Given the description of an element on the screen output the (x, y) to click on. 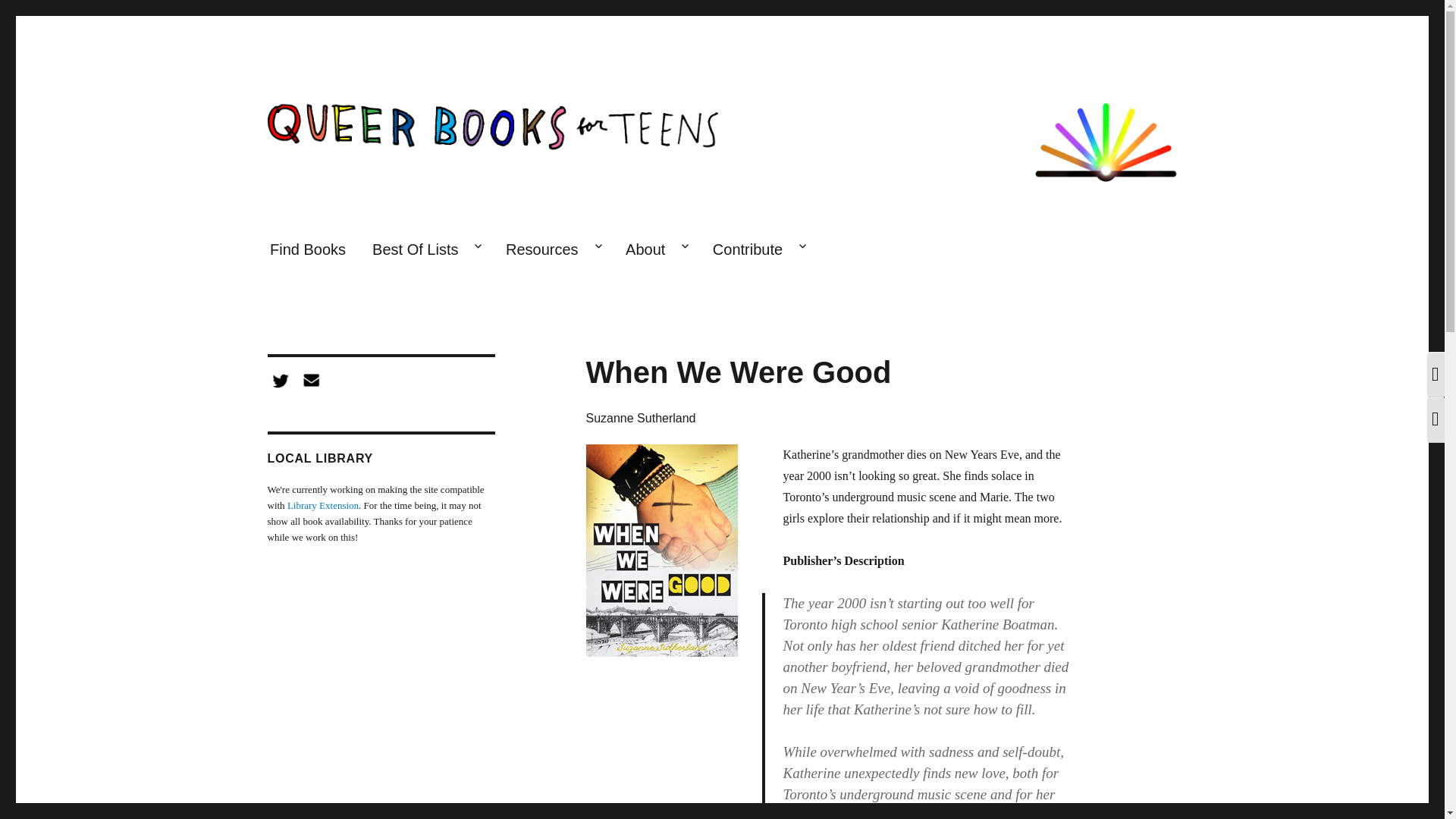
Find Books (307, 250)
About (656, 250)
Contribute (757, 250)
Resources (551, 250)
Best Of Lists (426, 250)
